Given the description of an element on the screen output the (x, y) to click on. 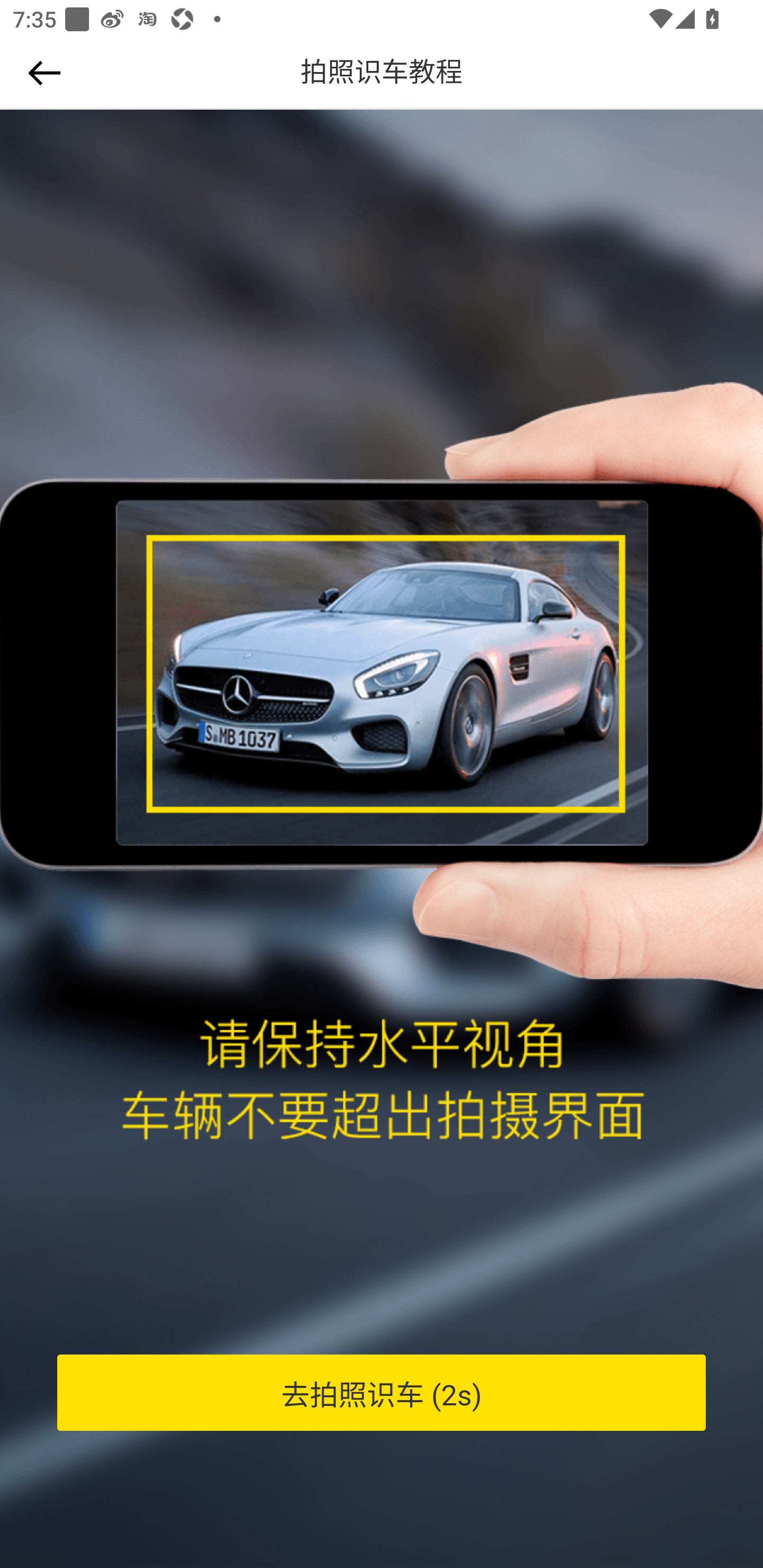
 (41, 72)
去拍照识车 (2s) (381, 1392)
